Given the description of an element on the screen output the (x, y) to click on. 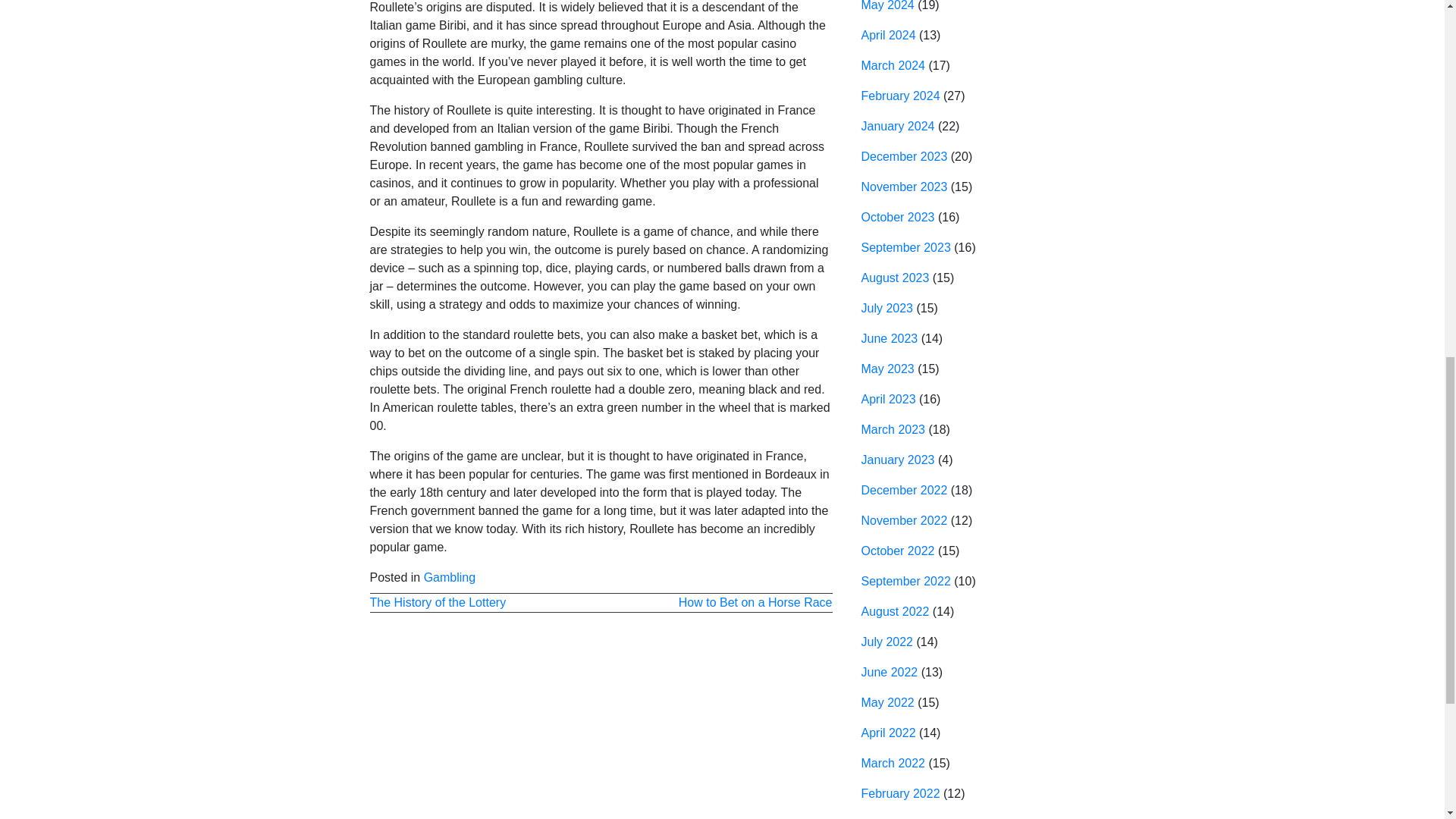
December 2023 (904, 155)
September 2023 (905, 246)
October 2023 (897, 216)
May 2023 (887, 368)
How to Bet on a Horse Race (755, 602)
April 2023 (888, 399)
January 2023 (897, 459)
June 2023 (889, 338)
July 2023 (887, 308)
August 2023 (895, 277)
January 2024 (897, 125)
Gambling (449, 576)
November 2023 (904, 186)
April 2024 (888, 34)
February 2024 (900, 95)
